Given the description of an element on the screen output the (x, y) to click on. 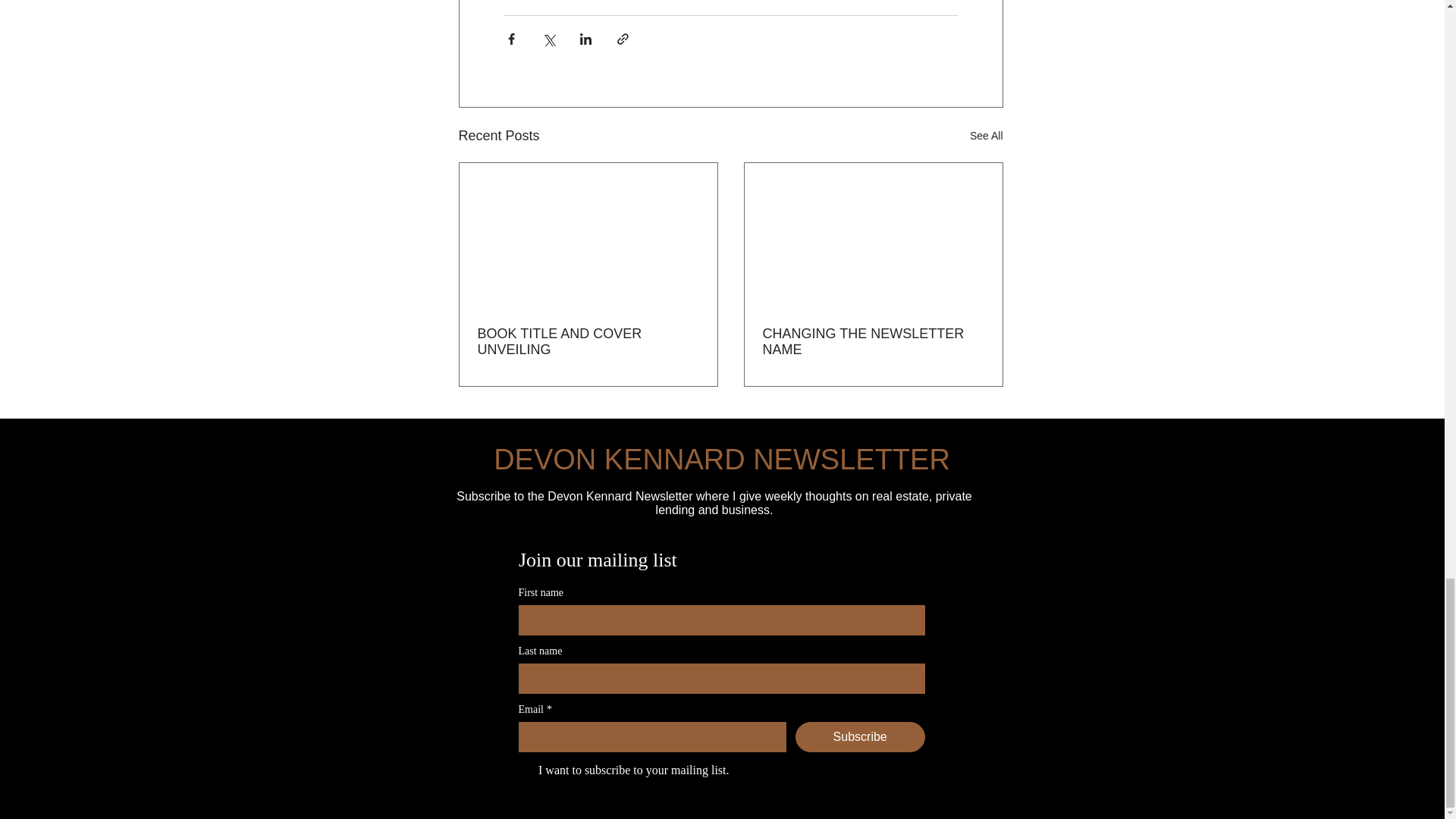
See All (986, 136)
BOOK TITLE AND COVER UNVEILING (587, 341)
CHANGING THE NEWSLETTER NAME (873, 341)
Subscribe (859, 736)
